Given the description of an element on the screen output the (x, y) to click on. 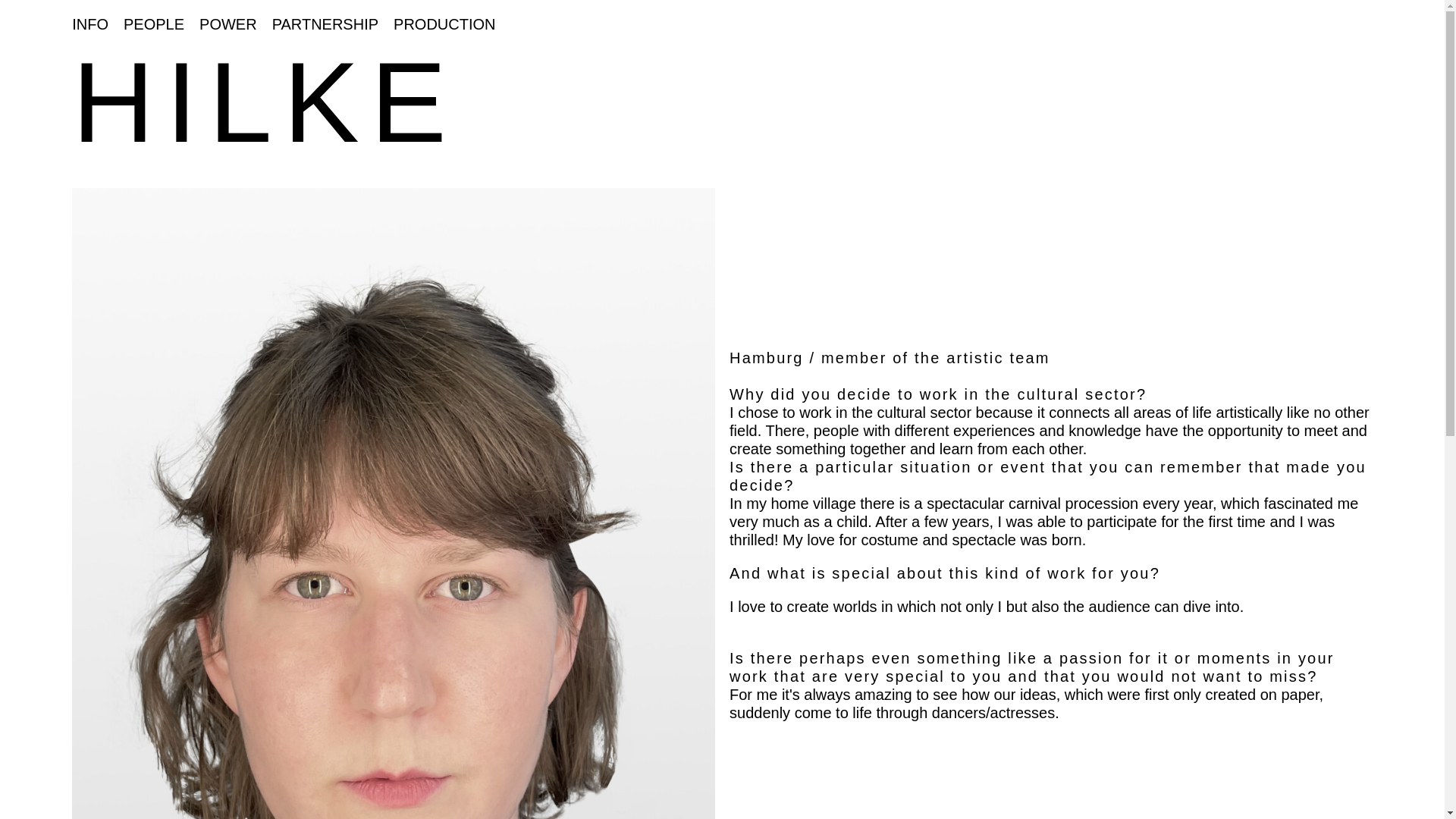
INFO (89, 23)
POWER (228, 23)
PRODUCTION (444, 23)
PEOPLE (153, 23)
PARTNERSHIP (325, 23)
